Given the description of an element on the screen output the (x, y) to click on. 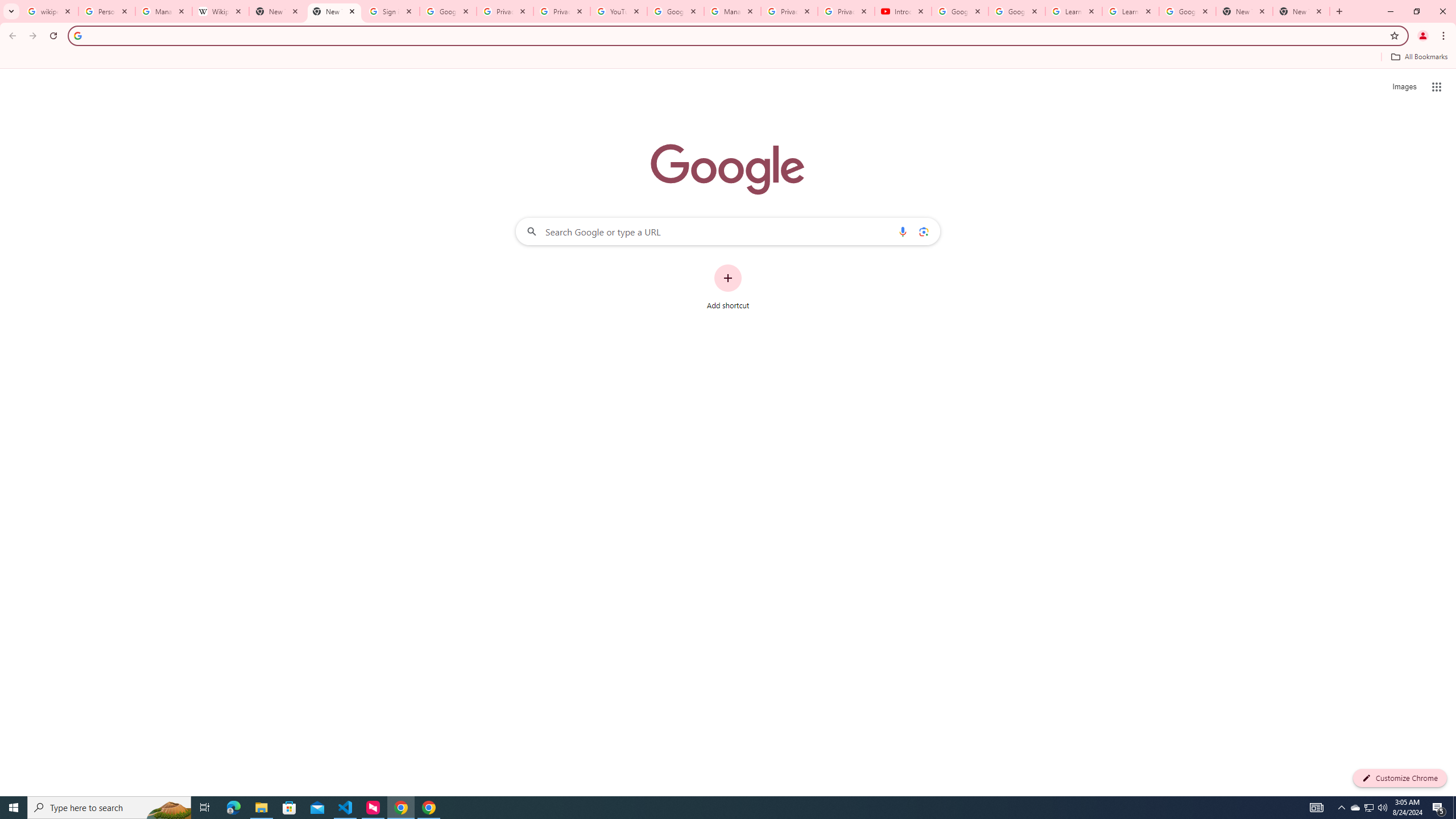
Google Account Help (675, 11)
Google Account Help (1015, 11)
Add shortcut (727, 287)
